Given the description of an element on the screen output the (x, y) to click on. 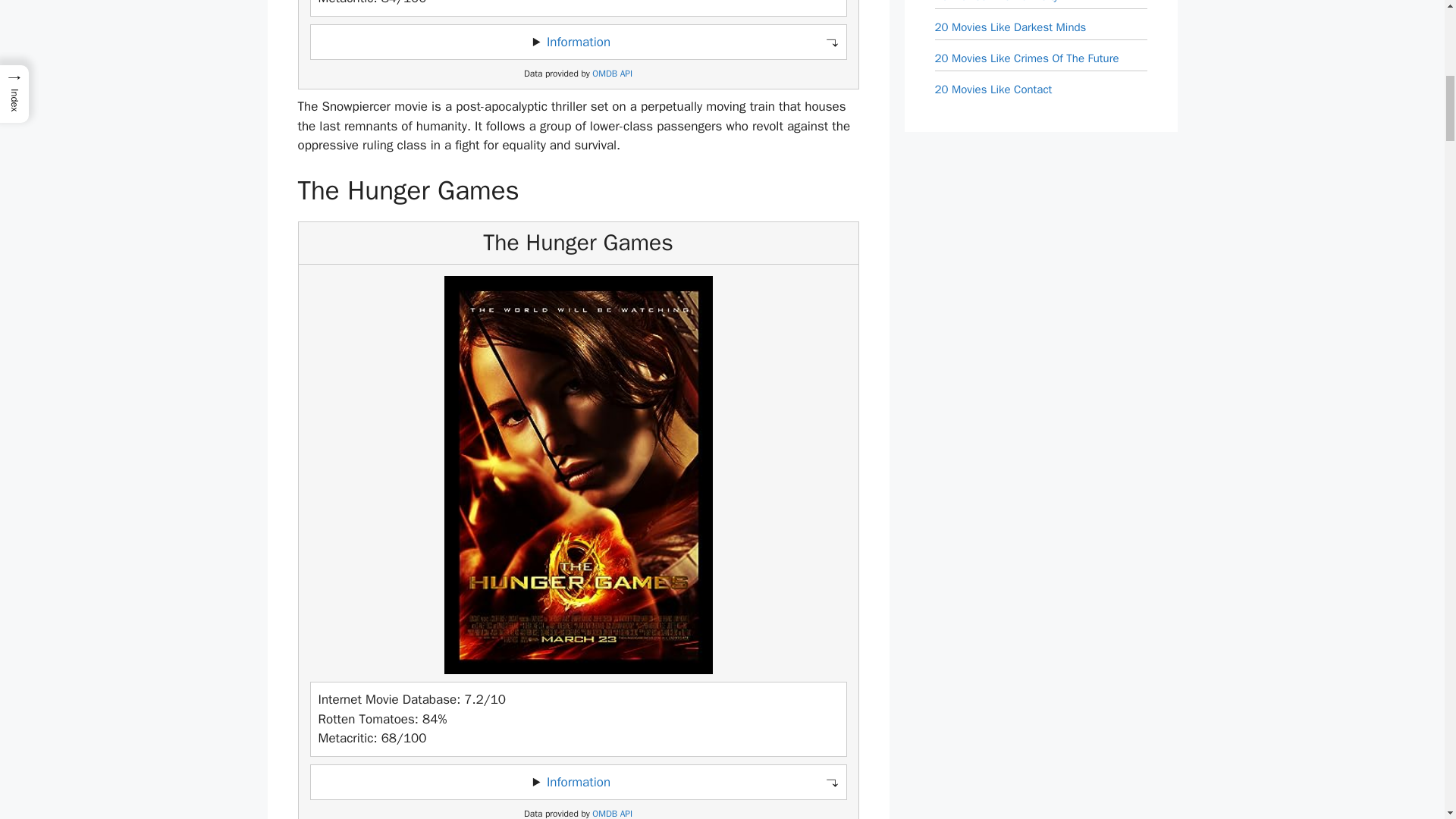
Open Movie Database API (611, 73)
Open Movie Database API (611, 813)
OMDB API (611, 813)
Toggle information (578, 782)
OMDB API (611, 73)
Information (578, 41)
Toggle information (578, 42)
Information (578, 781)
